Given the description of an element on the screen output the (x, y) to click on. 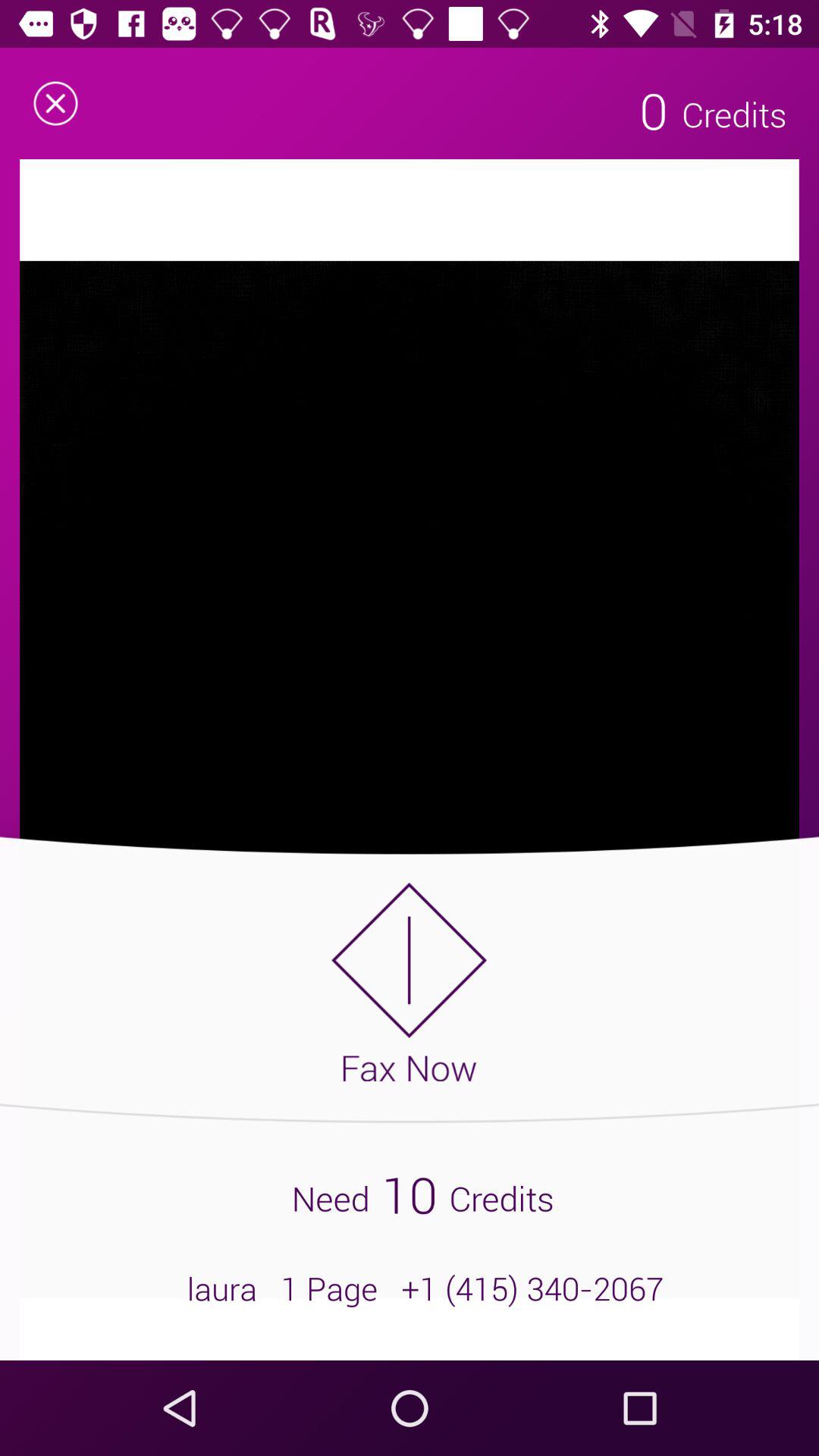
tap 0 app (653, 109)
